Given the description of an element on the screen output the (x, y) to click on. 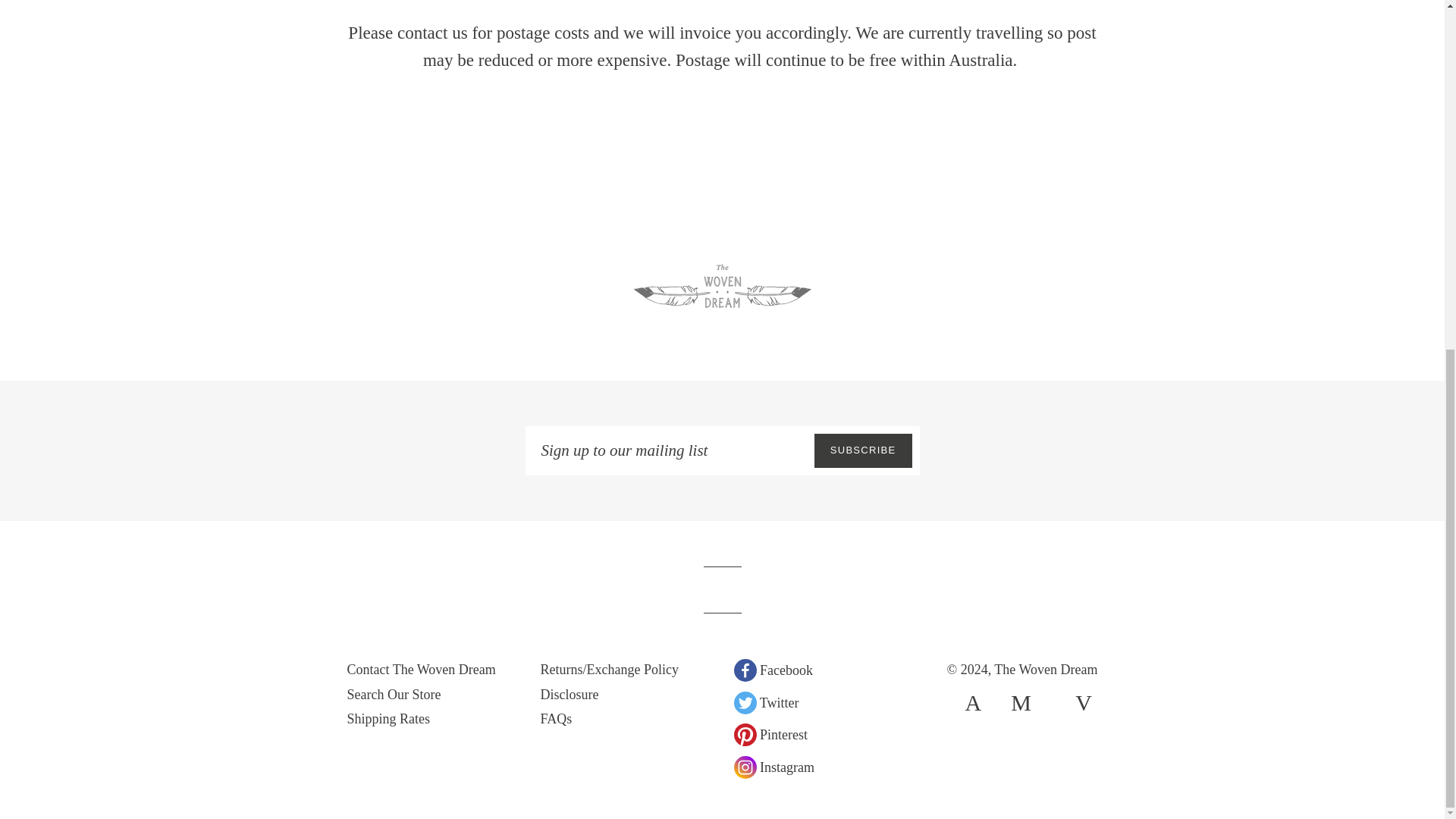
The Woven Dream on Twitter (766, 709)
The Woven Dream on Facebook (772, 676)
The Woven Dream on Instagram (773, 774)
The Woven Dream on Pinterest (770, 741)
